Given the description of an element on the screen output the (x, y) to click on. 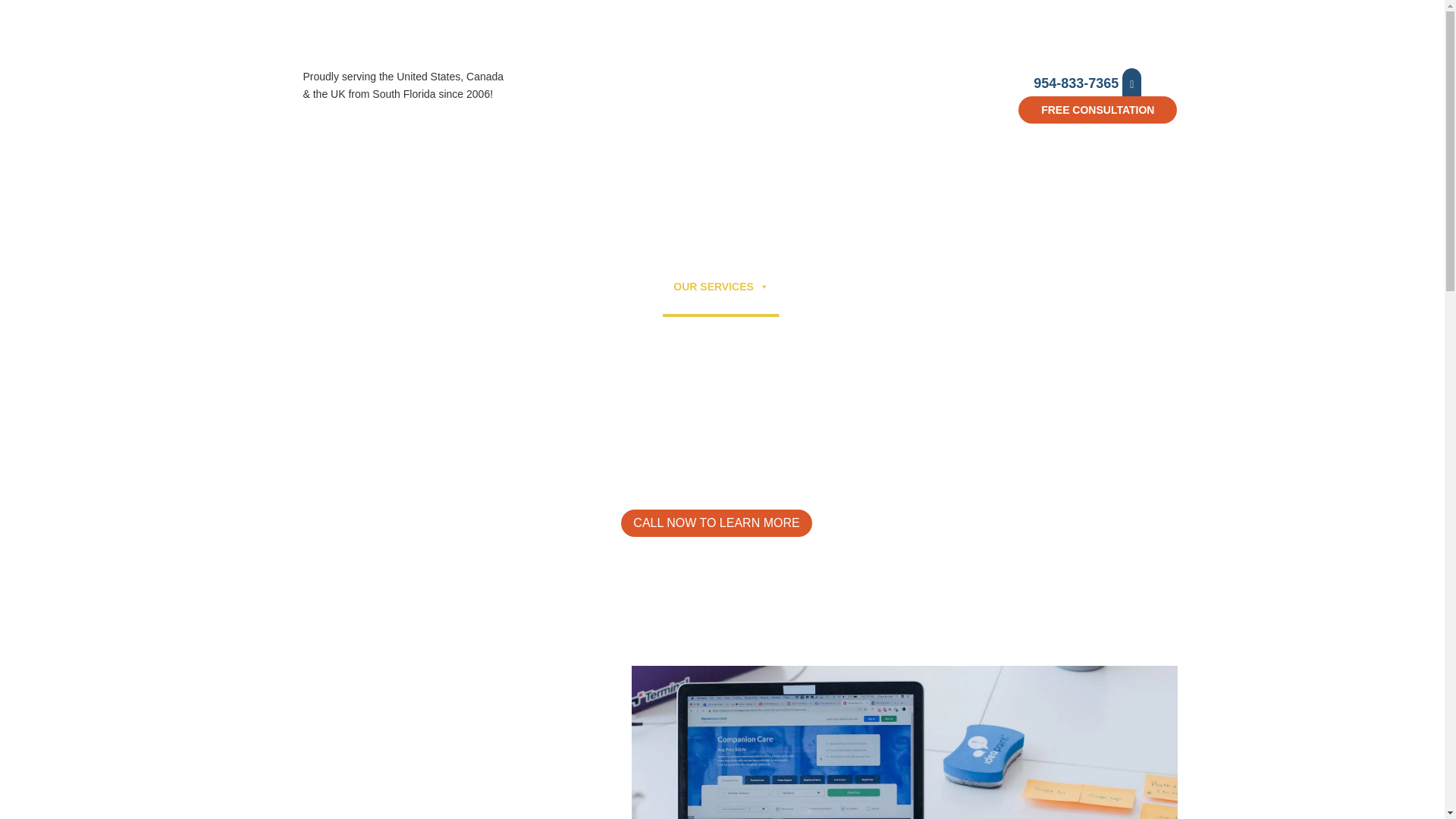
OUR TEAM (624, 286)
FREE CONSULTATION (1096, 109)
OUR SERVICES (720, 286)
Pay-Per-Click Management Company (903, 742)
954-833-7365 (1087, 83)
ABOUT BULLSEYE (525, 286)
HOME (439, 286)
